Given the description of an element on the screen output the (x, y) to click on. 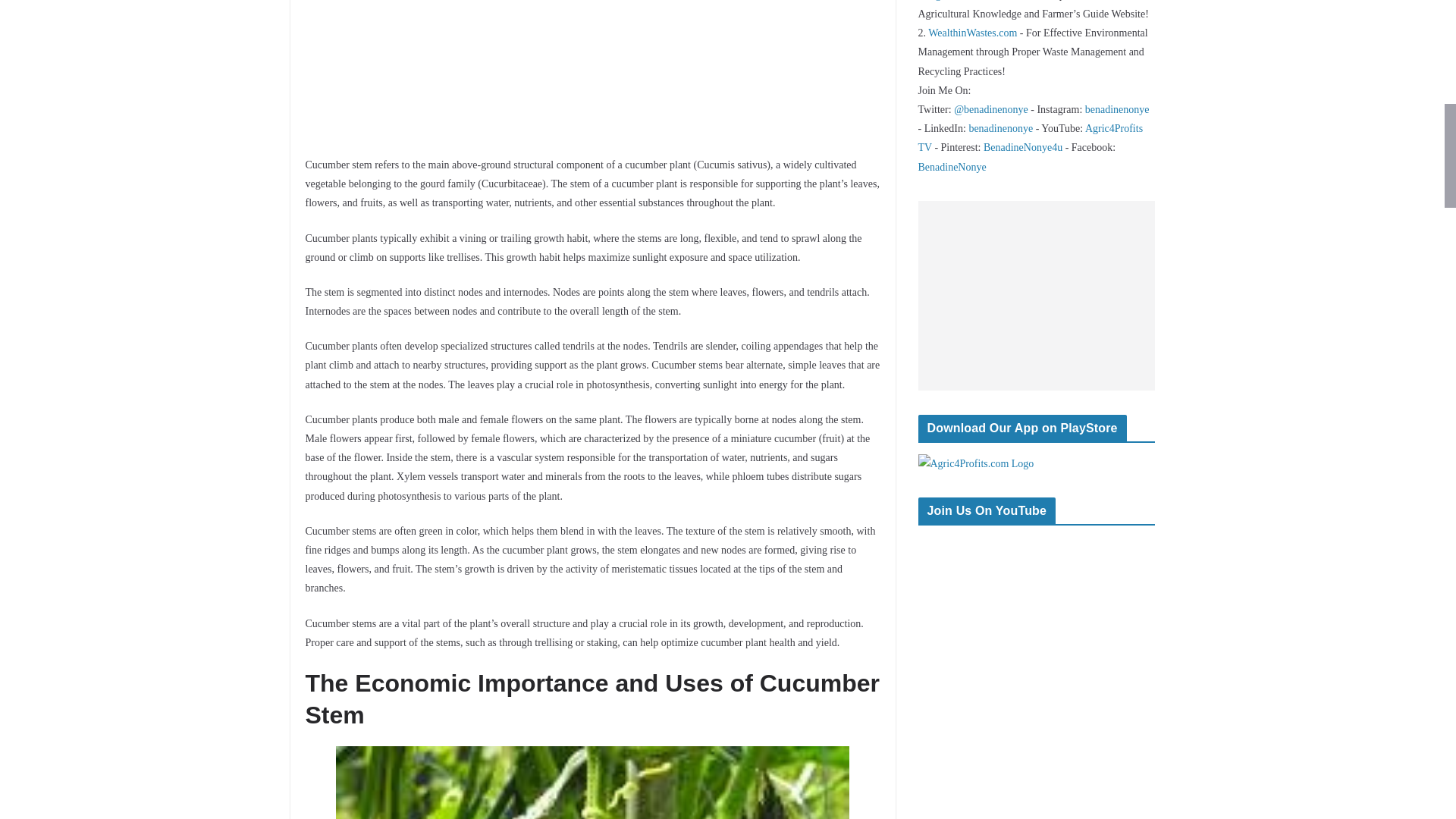
Cucumber Stem: Economic Importance, Uses and By-Products (592, 782)
